Given the description of an element on the screen output the (x, y) to click on. 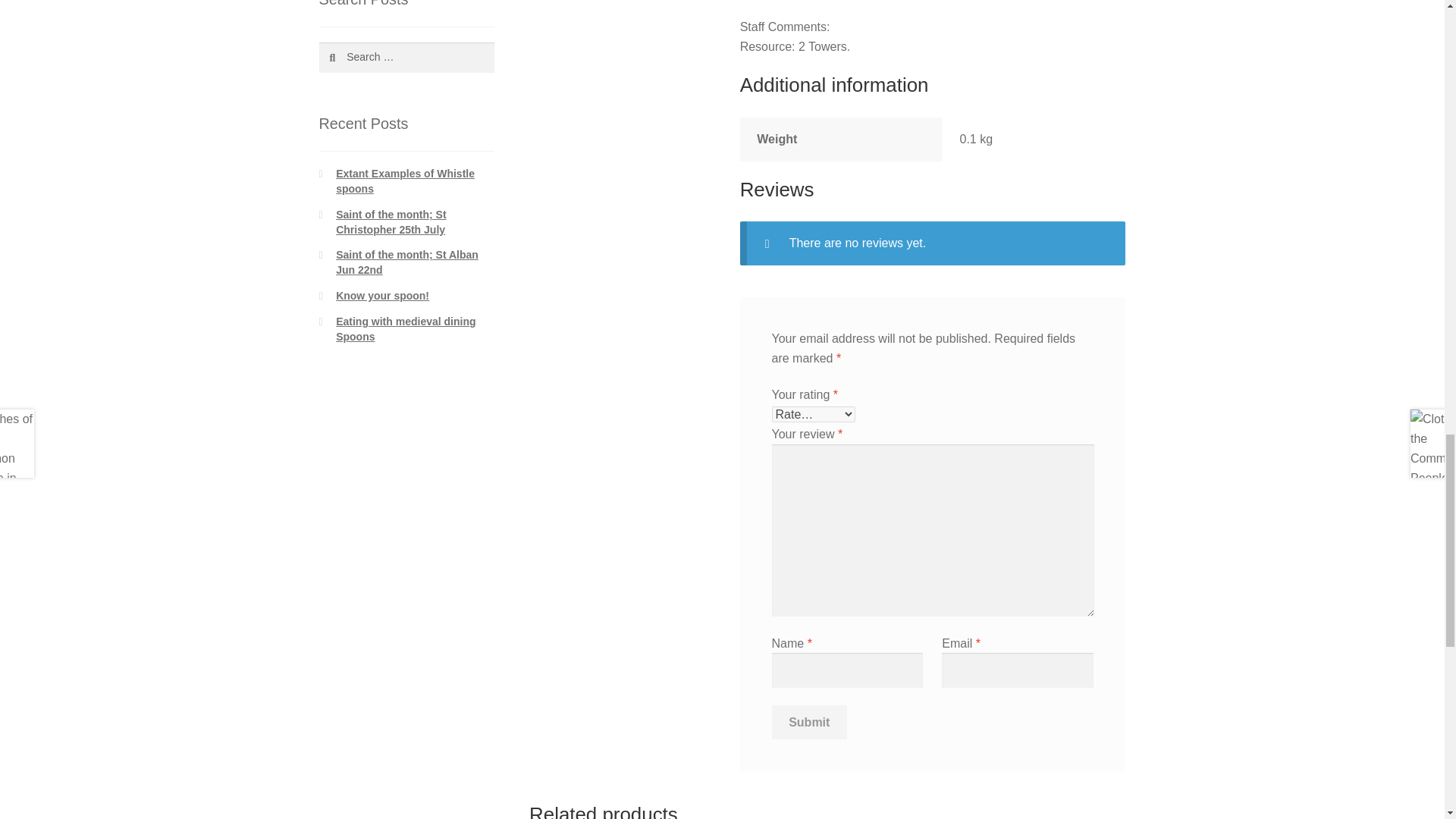
Submit (809, 722)
